Given the description of an element on the screen output the (x, y) to click on. 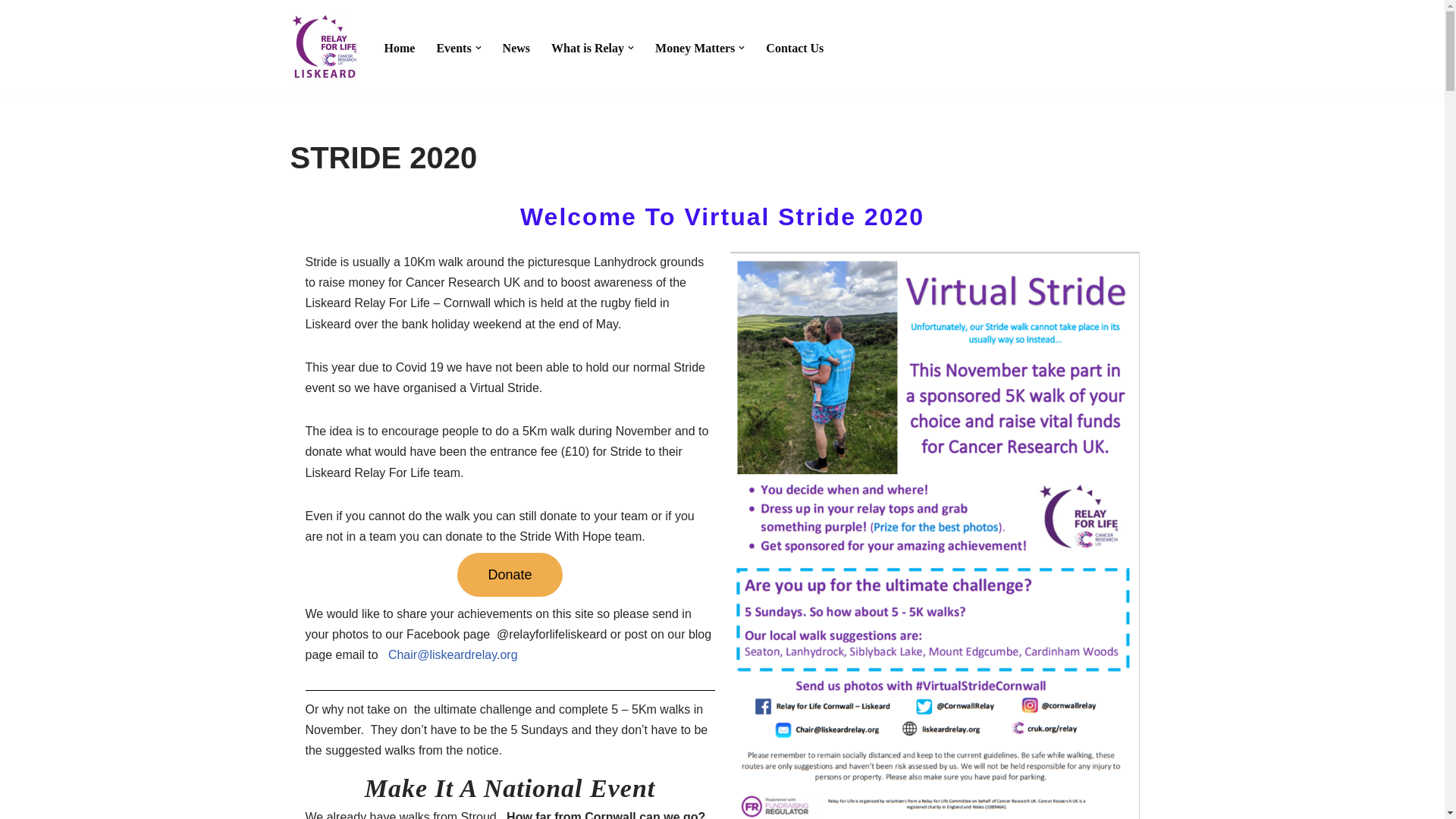
Events (452, 47)
Contact Us (794, 47)
Money Matters (695, 47)
News (515, 47)
What is Relay (587, 47)
Home (399, 47)
Skip to content (11, 31)
